Given the description of an element on the screen output the (x, y) to click on. 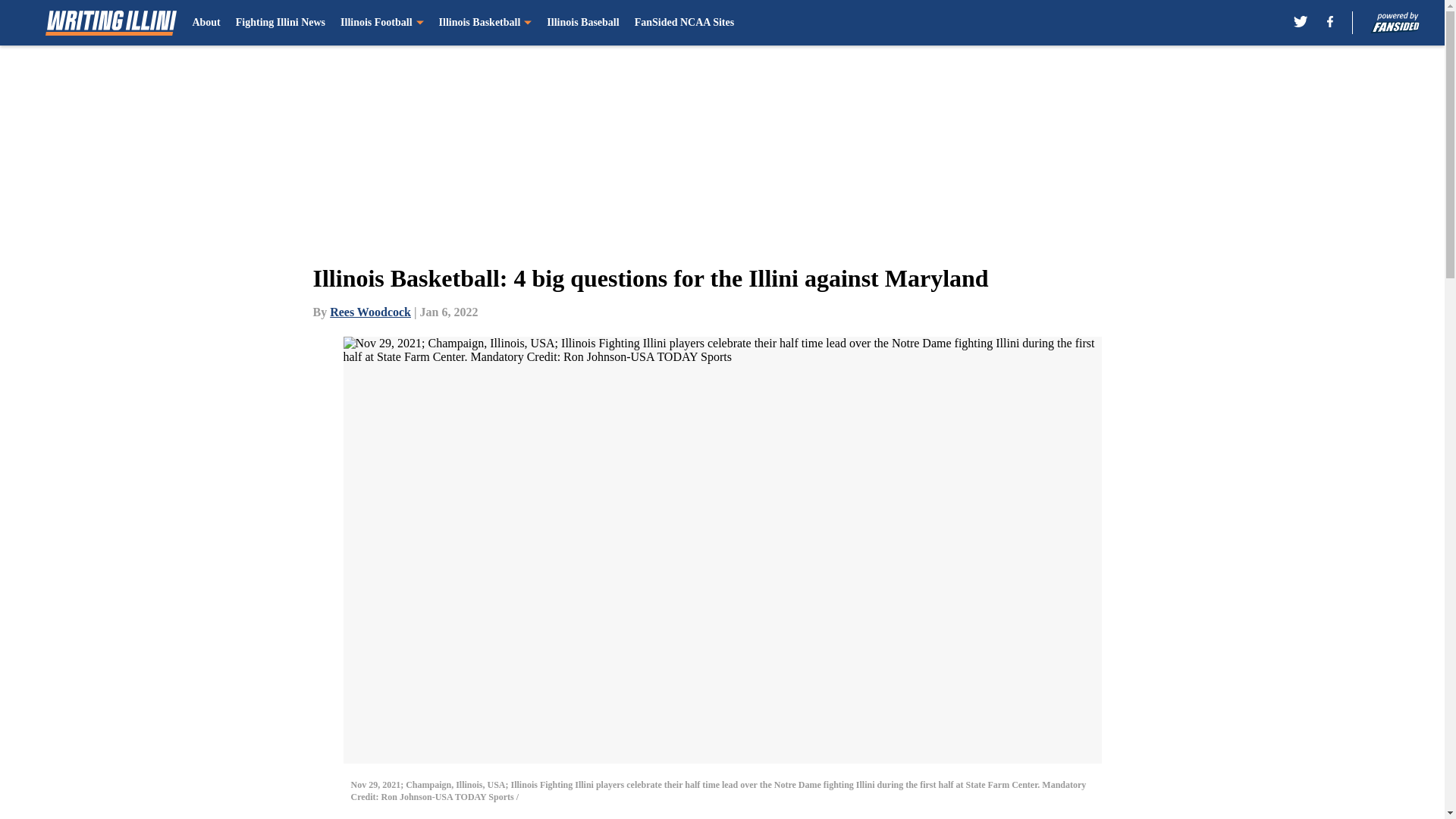
Illinois Baseball (582, 22)
About (205, 22)
Fighting Illini News (279, 22)
Rees Woodcock (370, 311)
FanSided NCAA Sites (683, 22)
